Given the description of an element on the screen output the (x, y) to click on. 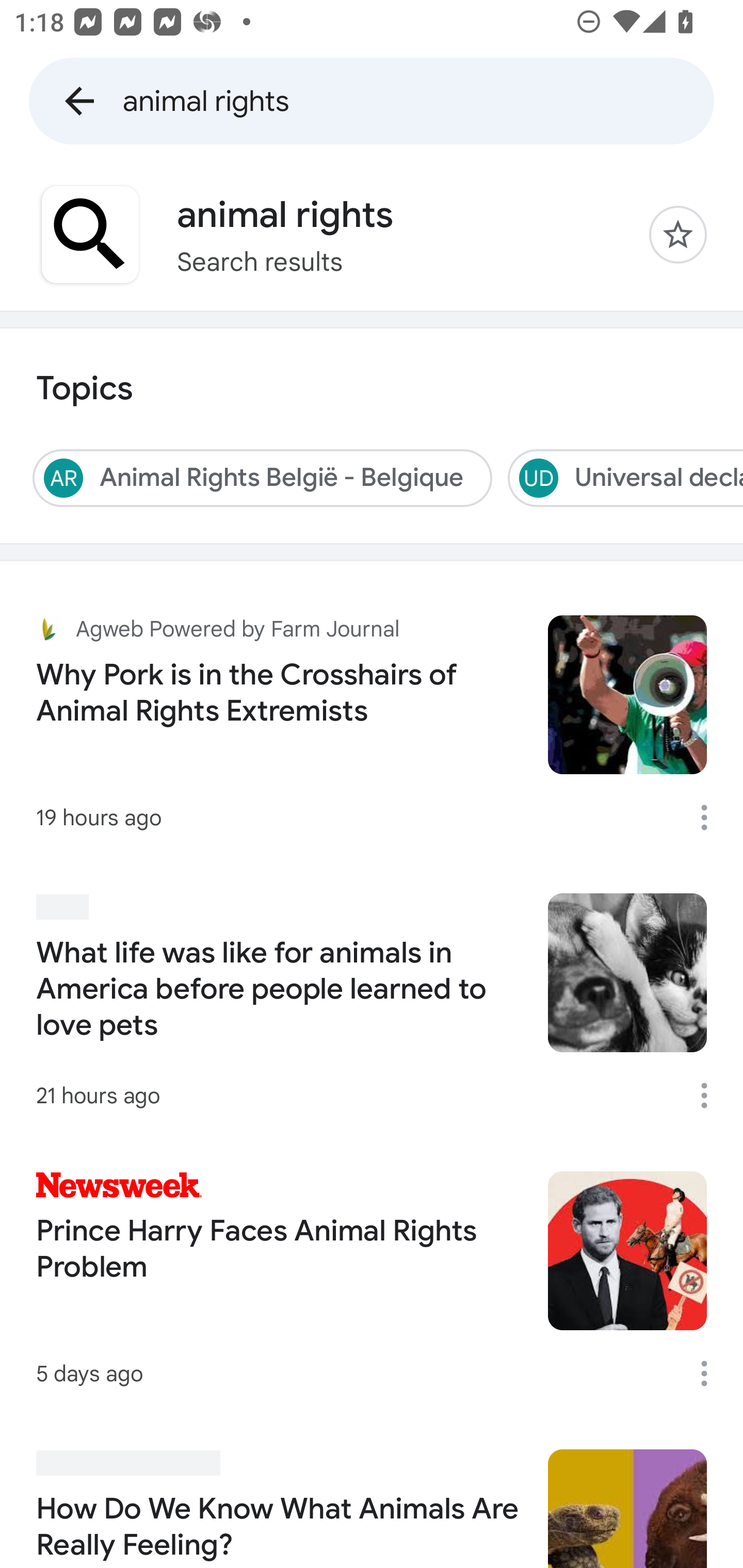
animal rights Navigate up animal rights (371, 101)
Navigate up (79, 101)
animal rights Search results Follow (371, 234)
Follow (677, 234)
A‌R Animal Rights België - Belgique (261, 478)
More options (711, 817)
More options (711, 1095)
More options (711, 1373)
